Given the description of an element on the screen output the (x, y) to click on. 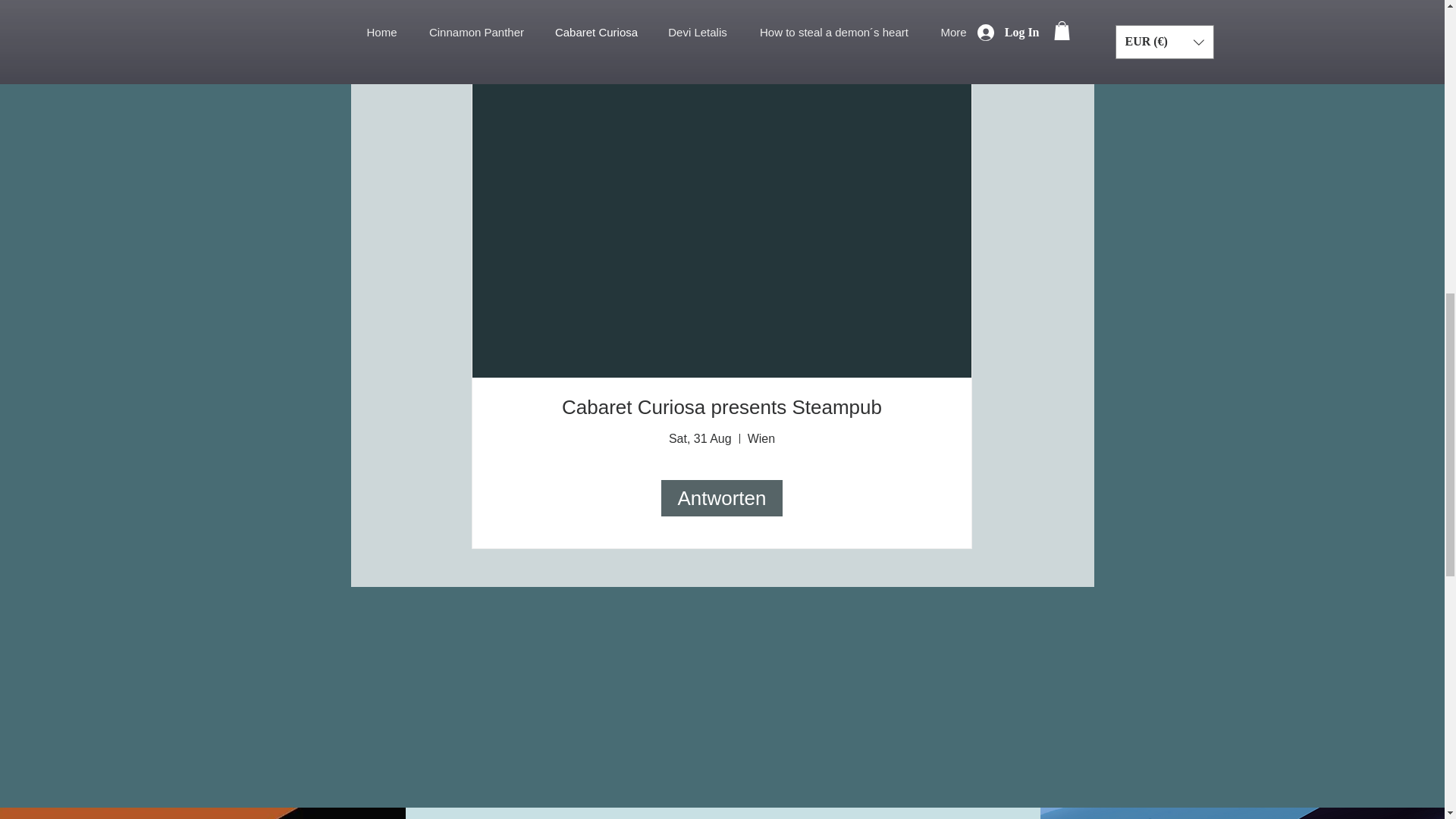
Antworten (722, 497)
Cabaret Curiosa presents Steampub (722, 406)
